Given the description of an element on the screen output the (x, y) to click on. 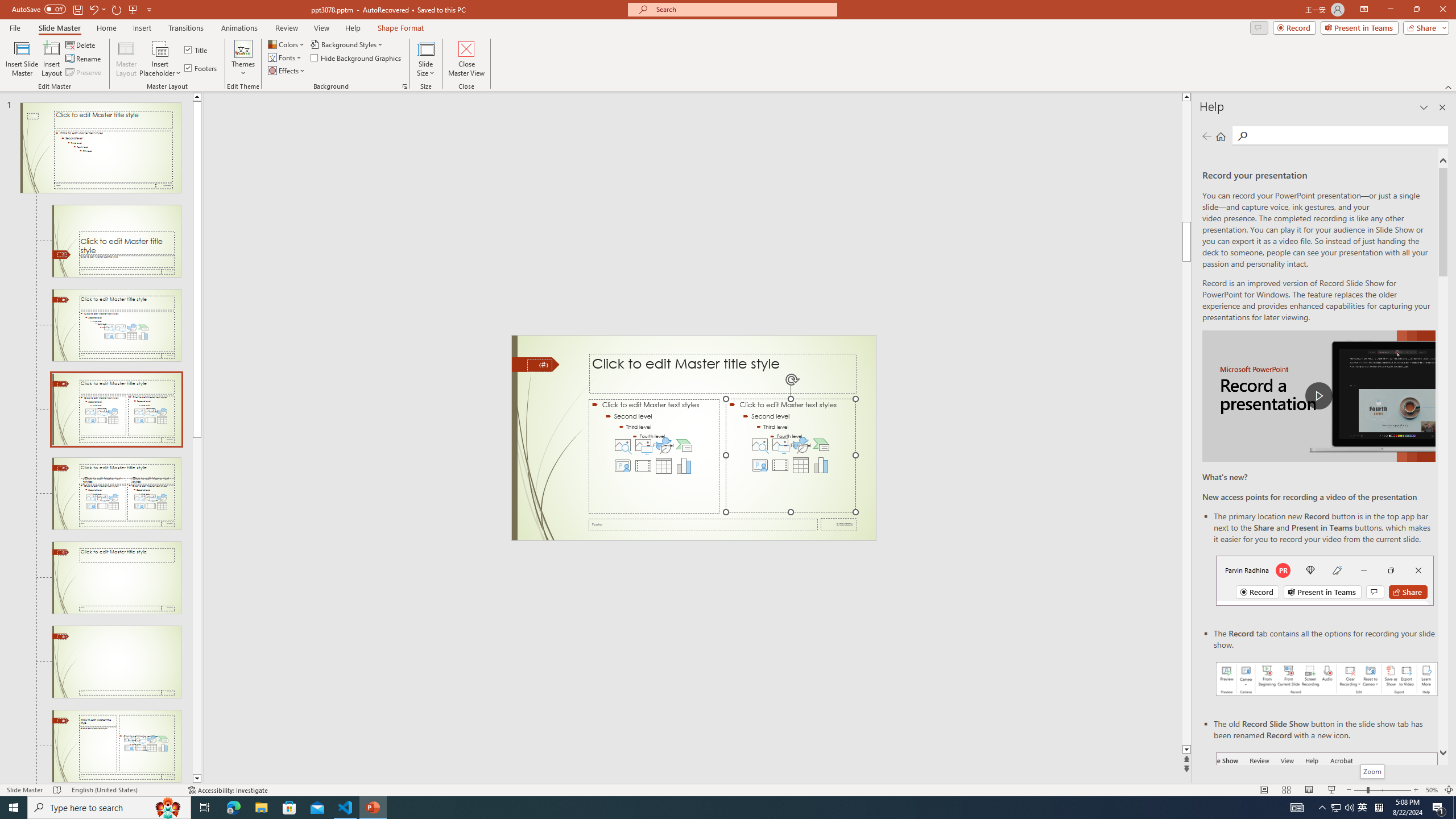
Insert Placeholder (160, 58)
Close Master View (466, 58)
Slide Size (425, 58)
Insert Chart (820, 465)
Previous page (1206, 136)
Hide Background Graphics (356, 56)
Slide Blank Layout: used by no slides (116, 746)
Background Styles (347, 44)
